Given the description of an element on the screen output the (x, y) to click on. 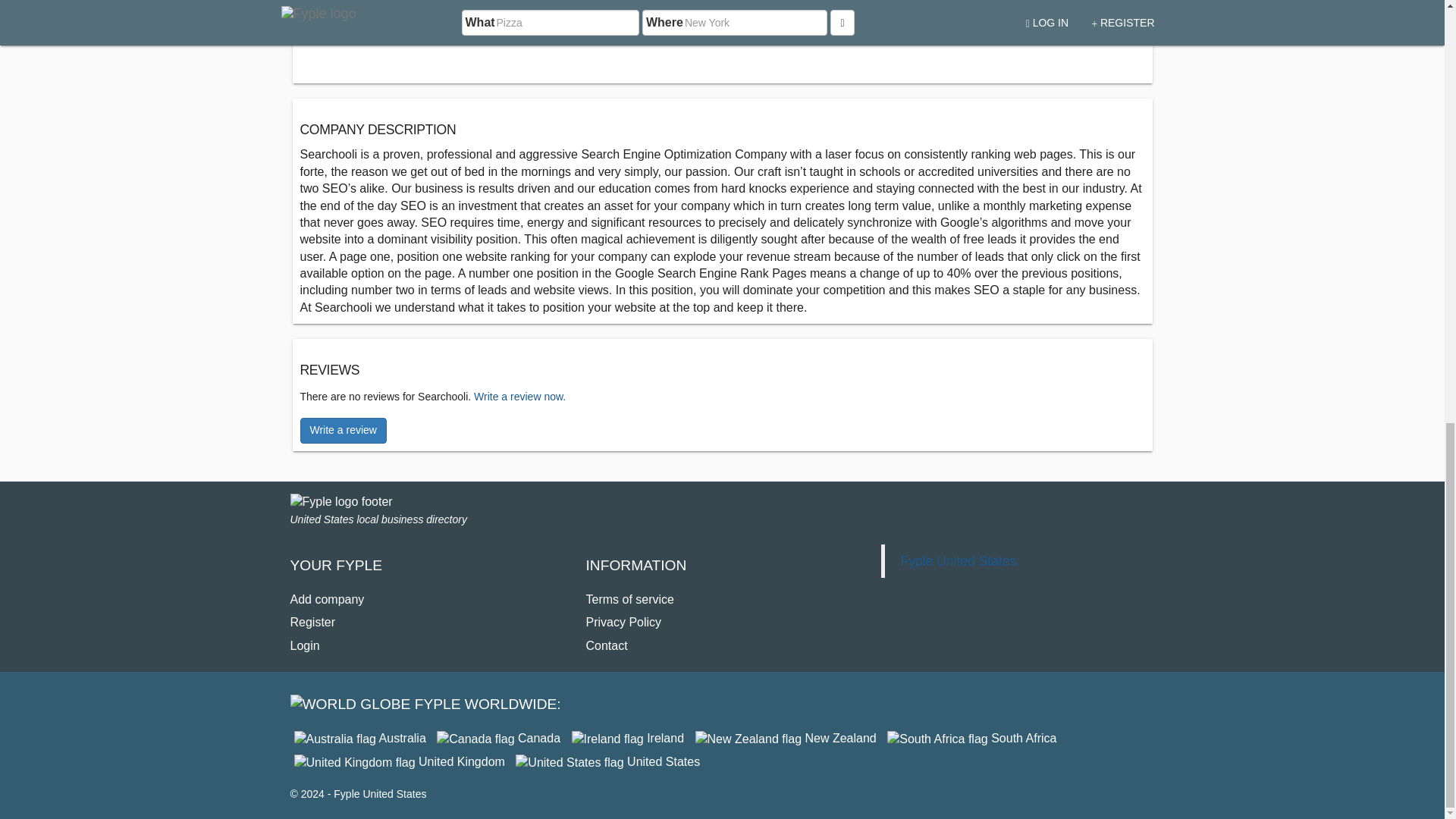
Fyple United States (607, 761)
Write a review (343, 430)
Australia (360, 738)
Privacy Policy (623, 621)
Contact (606, 645)
Login (303, 645)
Fyple United Kingdom (399, 761)
Fyple Australia (360, 738)
Terms of service (628, 599)
Register (311, 621)
Fyple New Zealand (785, 738)
New Zealand (785, 738)
United States (607, 761)
United Kingdom (399, 761)
Fyple Republic of Ireland (628, 738)
